Given the description of an element on the screen output the (x, y) to click on. 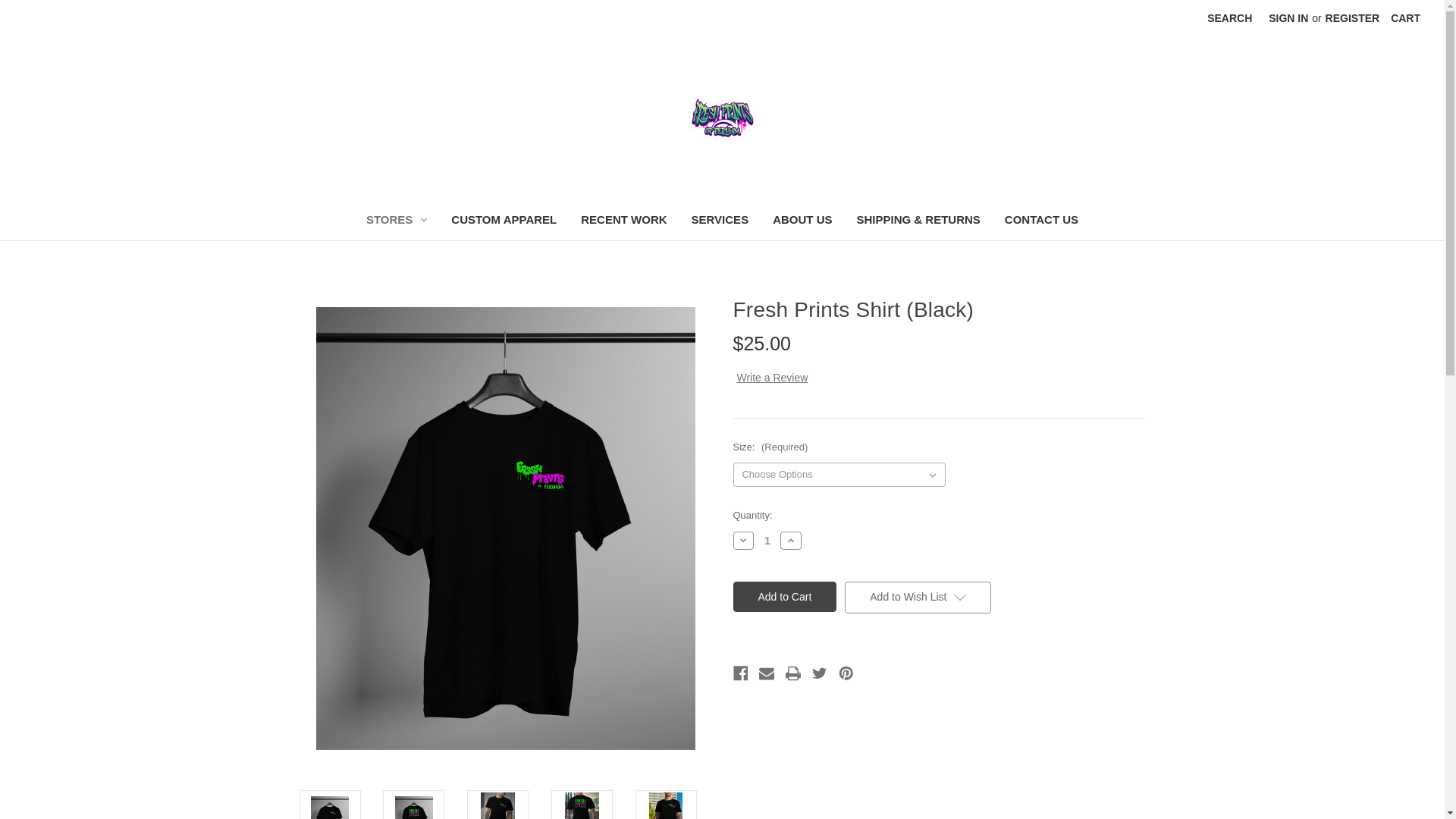
REGISTER (1353, 18)
CART (1404, 18)
SEARCH (1229, 18)
Fresh Prints of Perham (722, 117)
CUSTOM APPAREL (504, 221)
Add to Cart (783, 596)
SIGN IN (1288, 18)
CONTACT US (1041, 221)
STORES (396, 221)
RECENT WORK (623, 221)
